Given the description of an element on the screen output the (x, y) to click on. 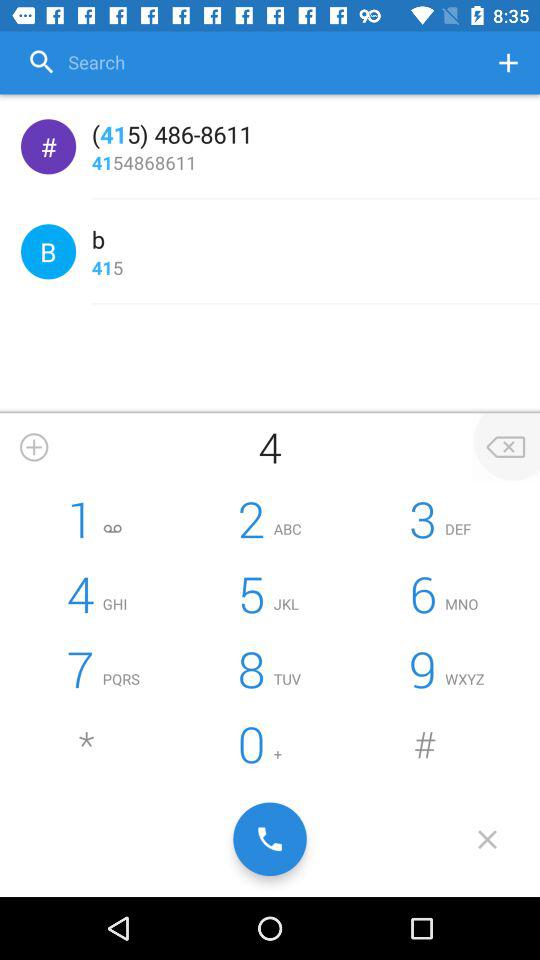
add number (508, 62)
